Given the description of an element on the screen output the (x, y) to click on. 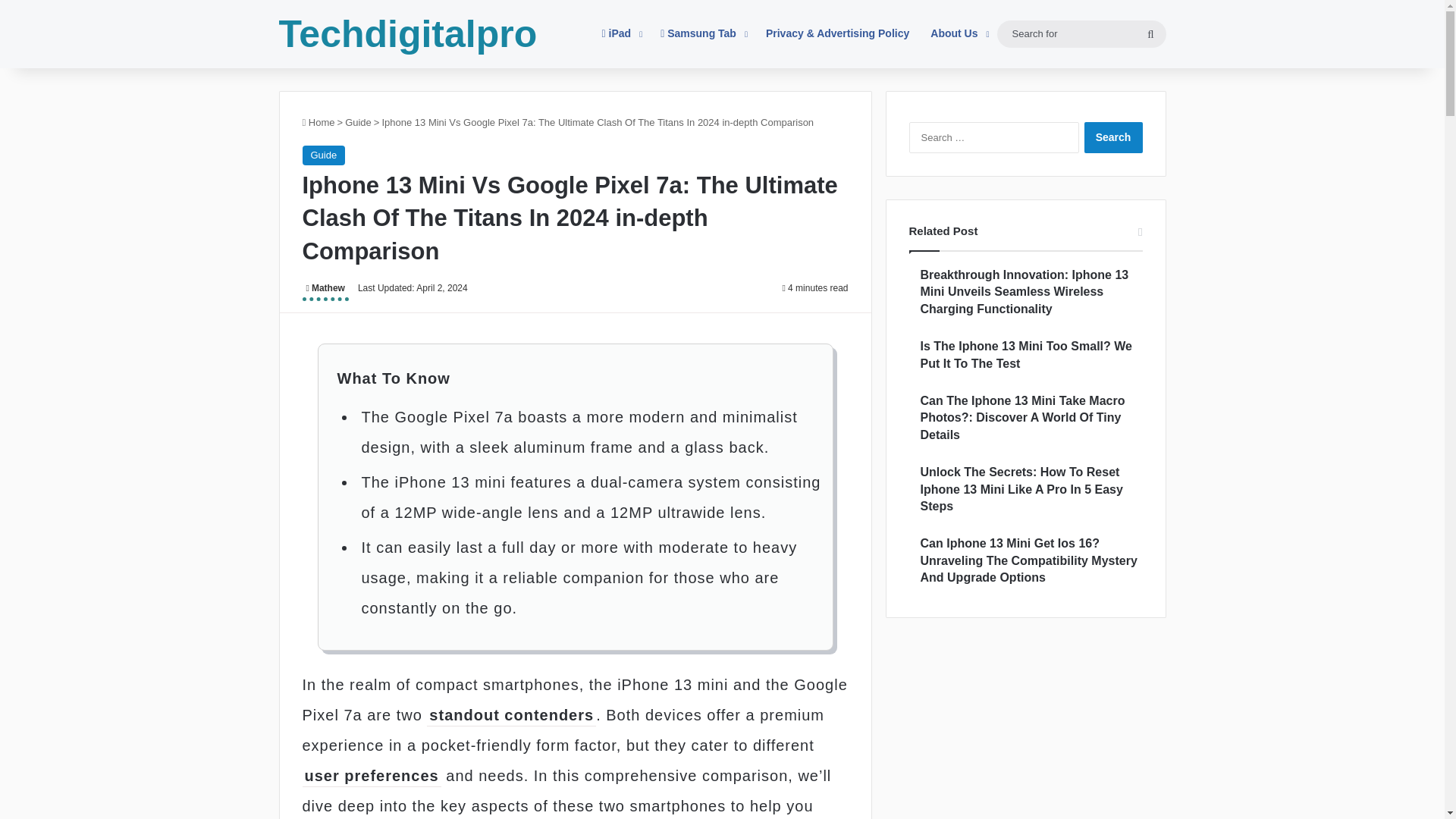
Mathew (324, 290)
Guide (358, 122)
Techdigitalpro (408, 34)
Home (317, 122)
Samsung Tab (702, 33)
Search (1113, 137)
Search (1113, 137)
Techdigitalpro (408, 34)
Search for (1150, 32)
Search for (1080, 32)
